Given the description of an element on the screen output the (x, y) to click on. 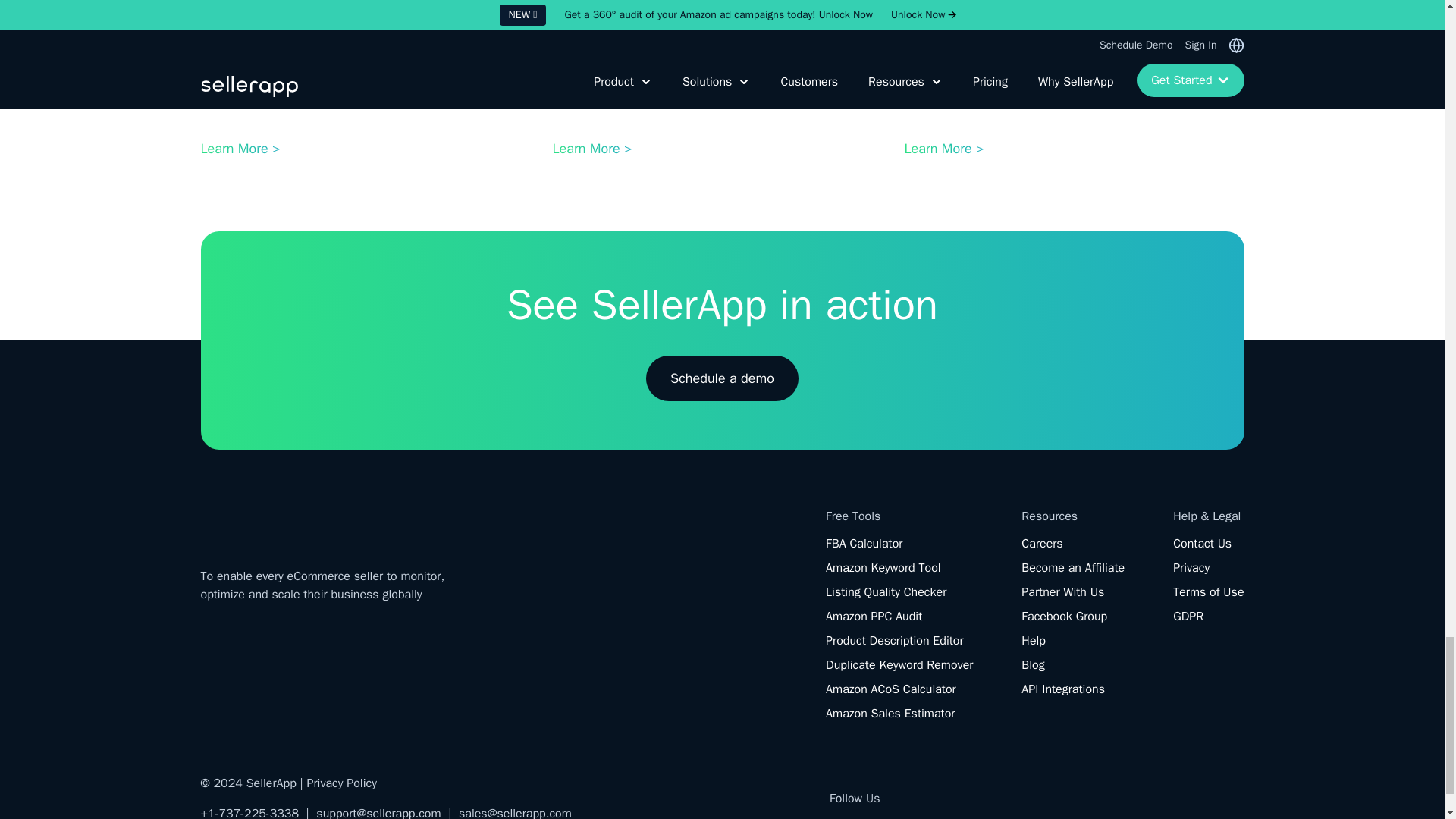
Schedule a demo (721, 378)
FBA Calculator (863, 543)
Amazon Keyword Tool (882, 567)
Listing Quality Checker (885, 591)
